Given the description of an element on the screen output the (x, y) to click on. 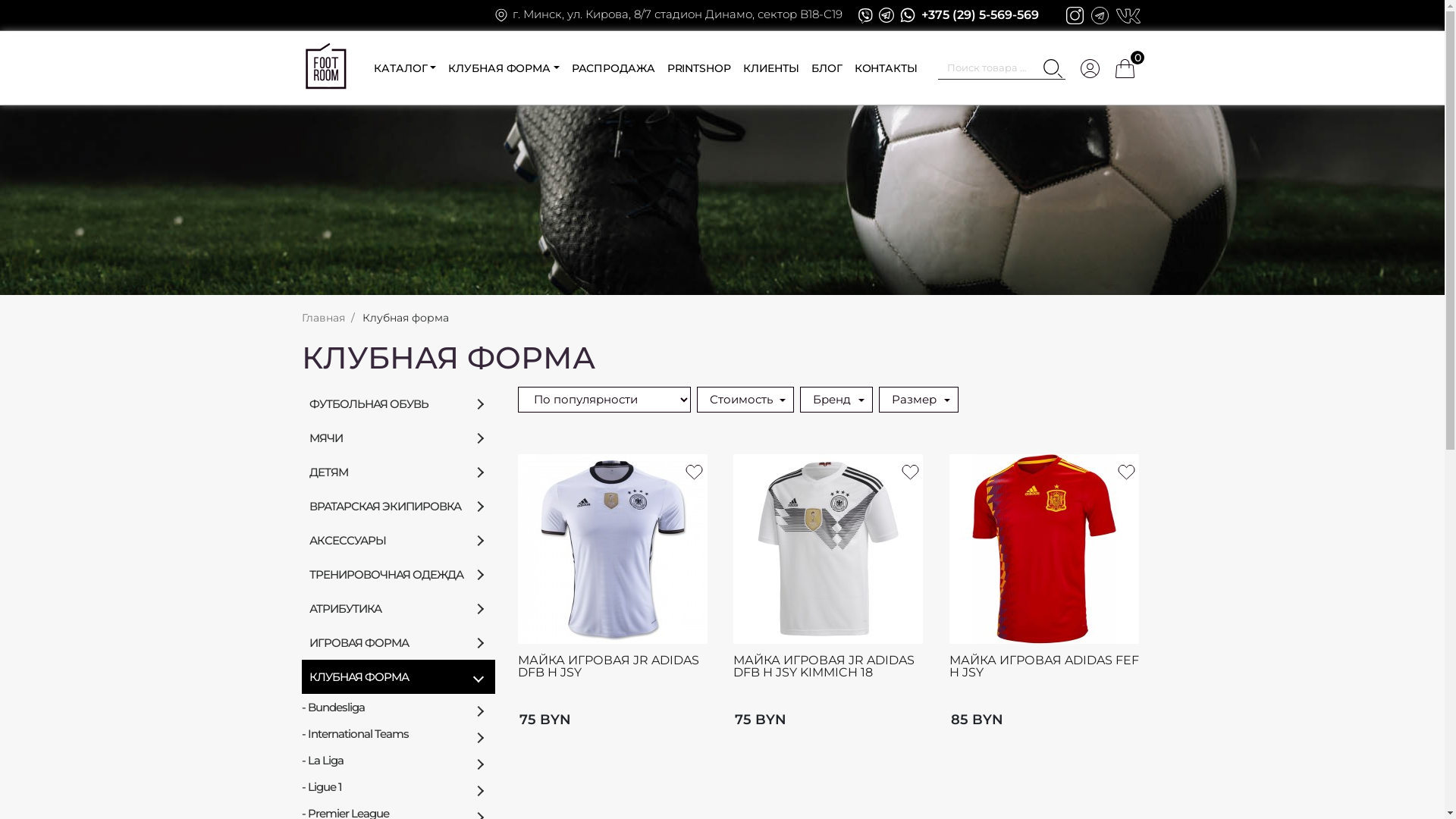
- Bundesliga Element type: text (398, 706)
- Ligue 1 Element type: text (398, 786)
+375 (29) 5-569-569 Element type: text (979, 14)
0 Element type: text (1125, 67)
- International Teams Element type: text (398, 733)
- La Liga Element type: text (398, 759)
PRINTSHOP Element type: text (699, 68)
